Given the description of an element on the screen output the (x, y) to click on. 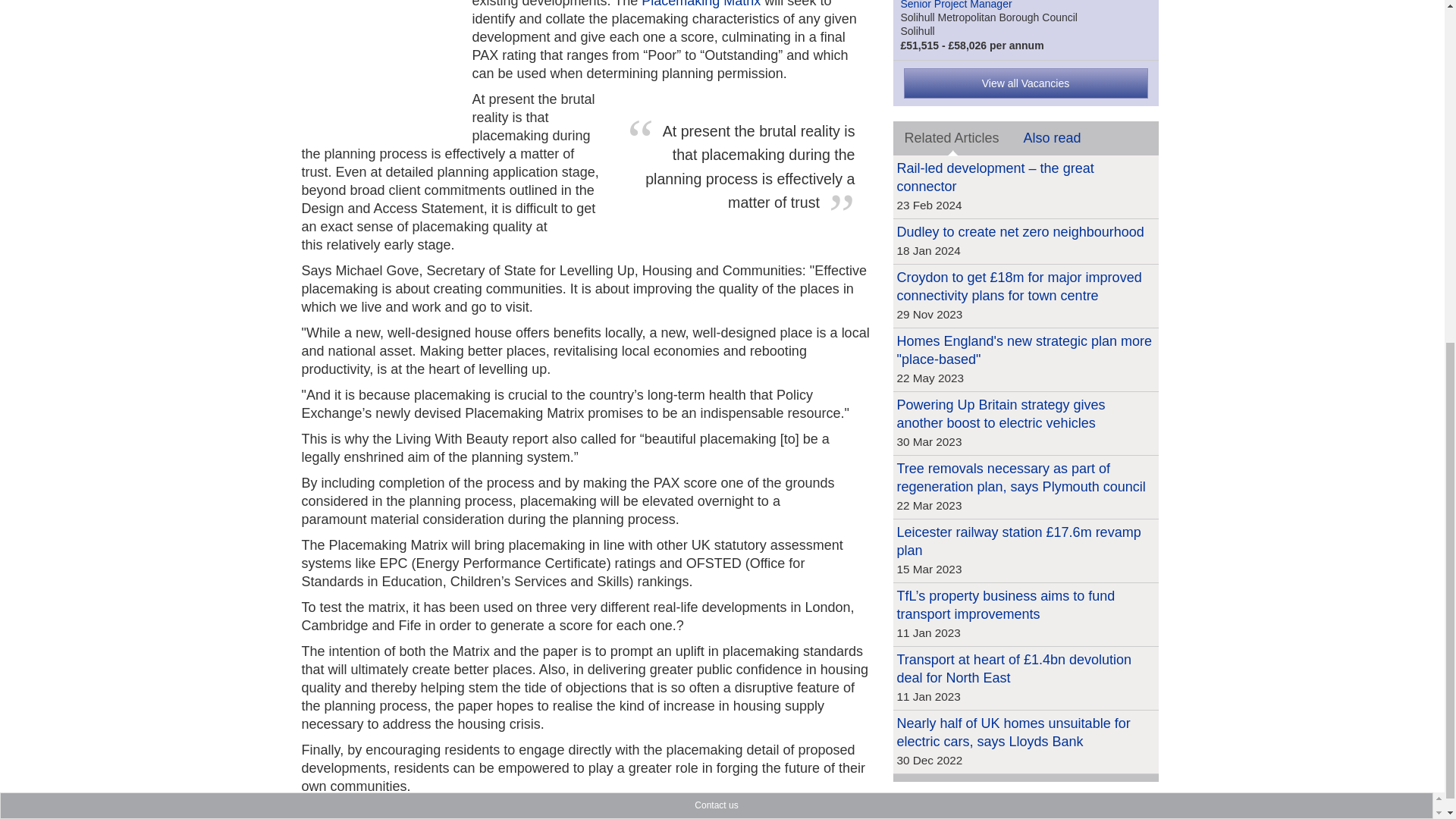
Read more about Dudley to create net zero neighbourhood (1019, 231)
Read more about Homes England's new strategic plan more  (1023, 349)
